Given the description of an element on the screen output the (x, y) to click on. 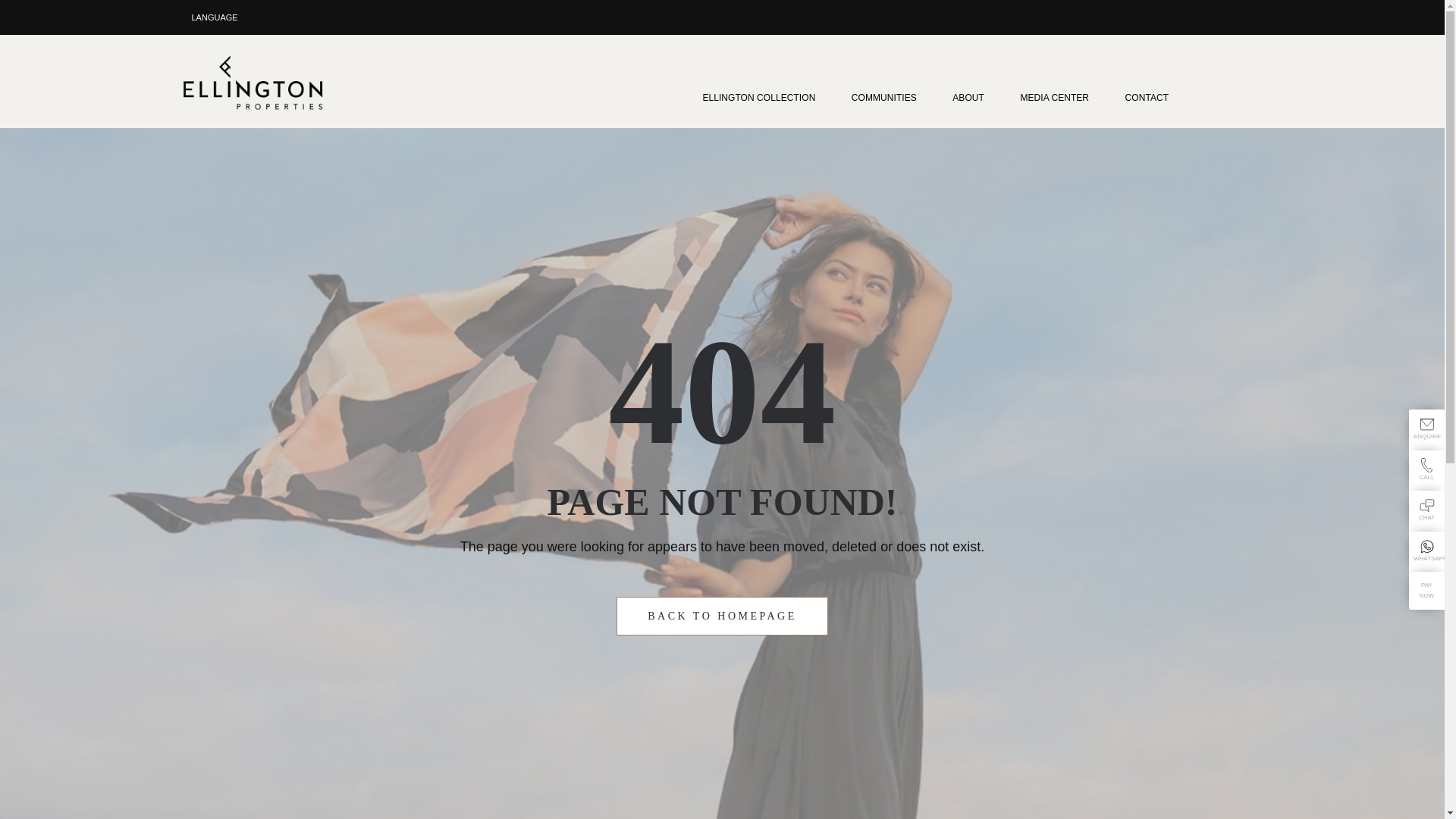
CHAT WITH US (1426, 504)
ELLINGTON COLLECTION (766, 92)
ELLINGTON COLLECTION (766, 92)
REGISTER YOUR INTEREST (1426, 423)
COMMUNITIES (891, 92)
CALL US (1426, 464)
LANGUAGE (213, 17)
